Given the description of an element on the screen output the (x, y) to click on. 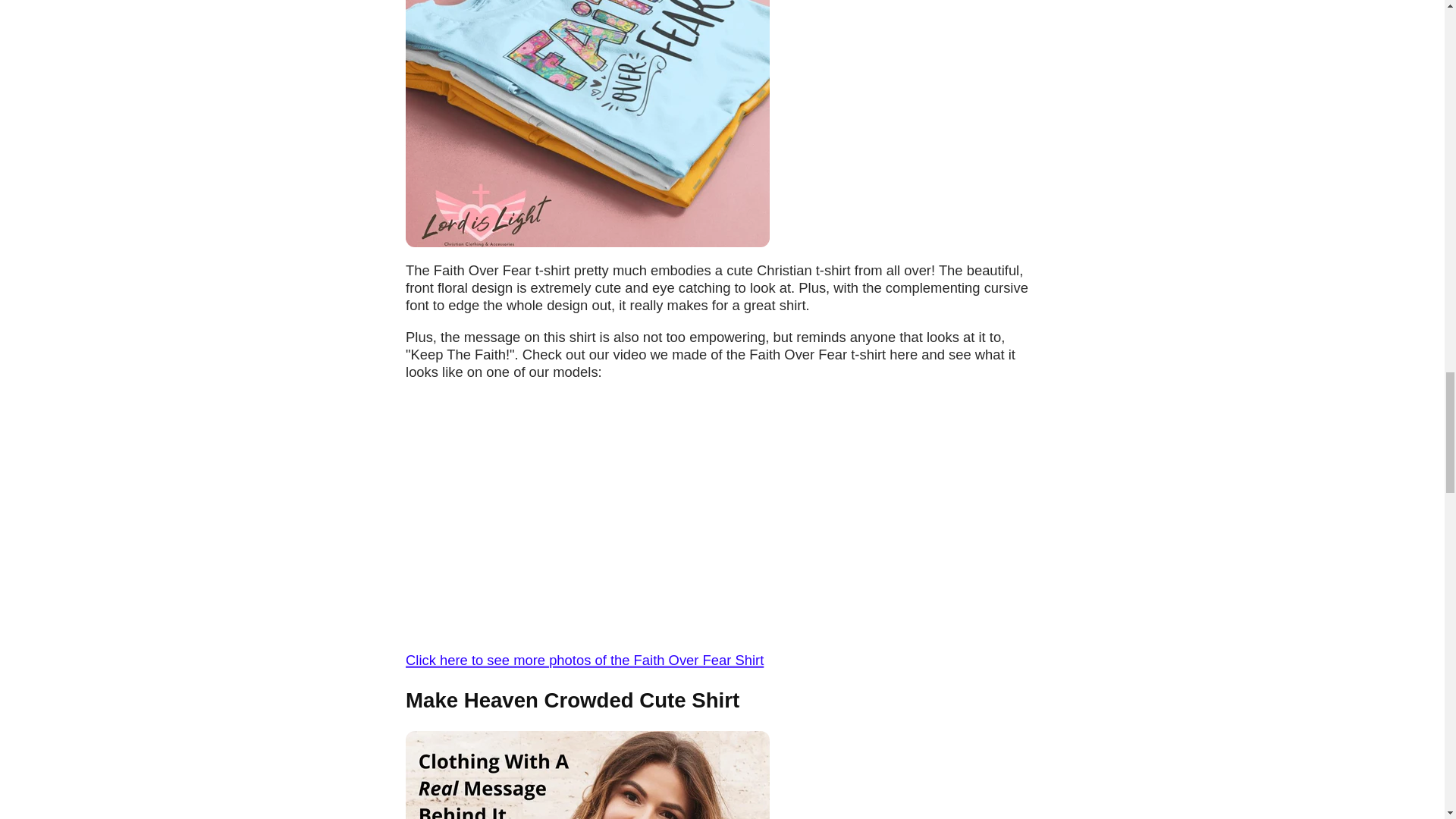
Faith Over Fear shirt (584, 659)
YouTube video player (617, 513)
Click here to see more photos of the Faith Over Fear Shirt (584, 659)
